Given the description of an element on the screen output the (x, y) to click on. 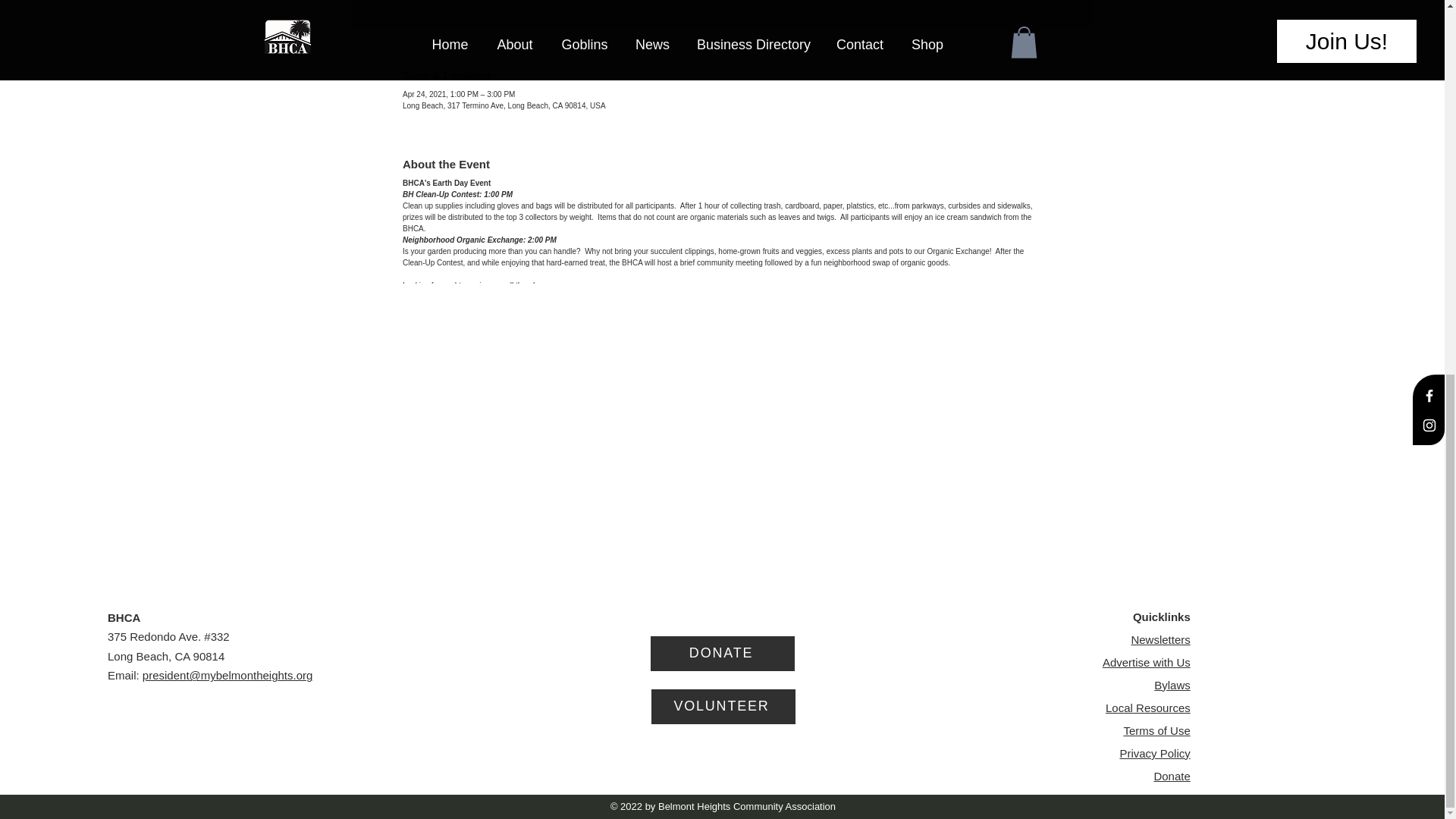
Bylaws (1172, 684)
Newsletters (1160, 639)
Donate (1171, 775)
Privacy Policy (1154, 753)
Terms of Use (1155, 730)
DONATE (722, 653)
Advertise with Us (1146, 662)
Local Resources (1148, 707)
VOLUNTEER (722, 706)
